Given the description of an element on the screen output the (x, y) to click on. 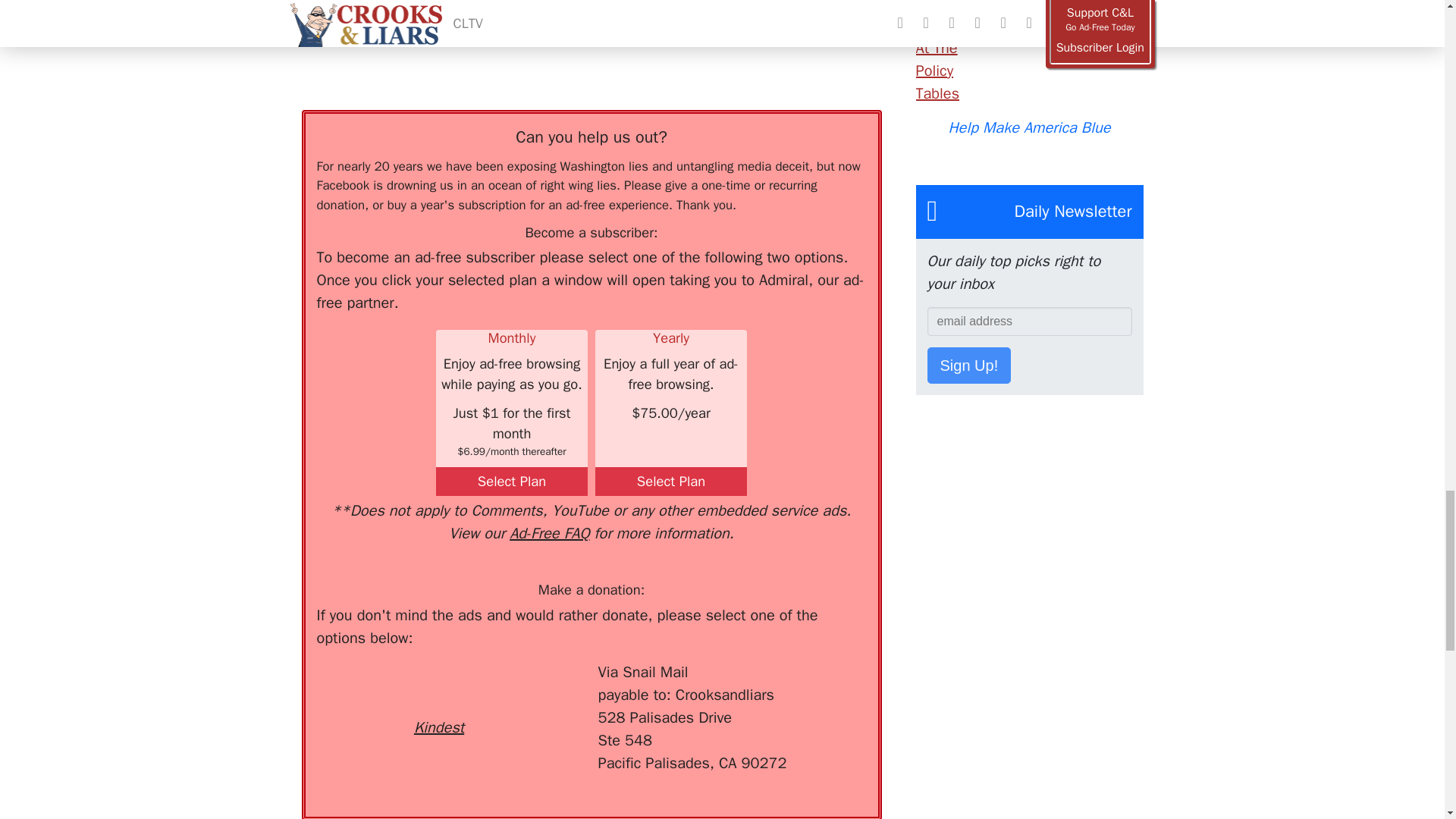
Donate via Kindest (438, 699)
Donate via PayPal (540, 688)
